Given the description of an element on the screen output the (x, y) to click on. 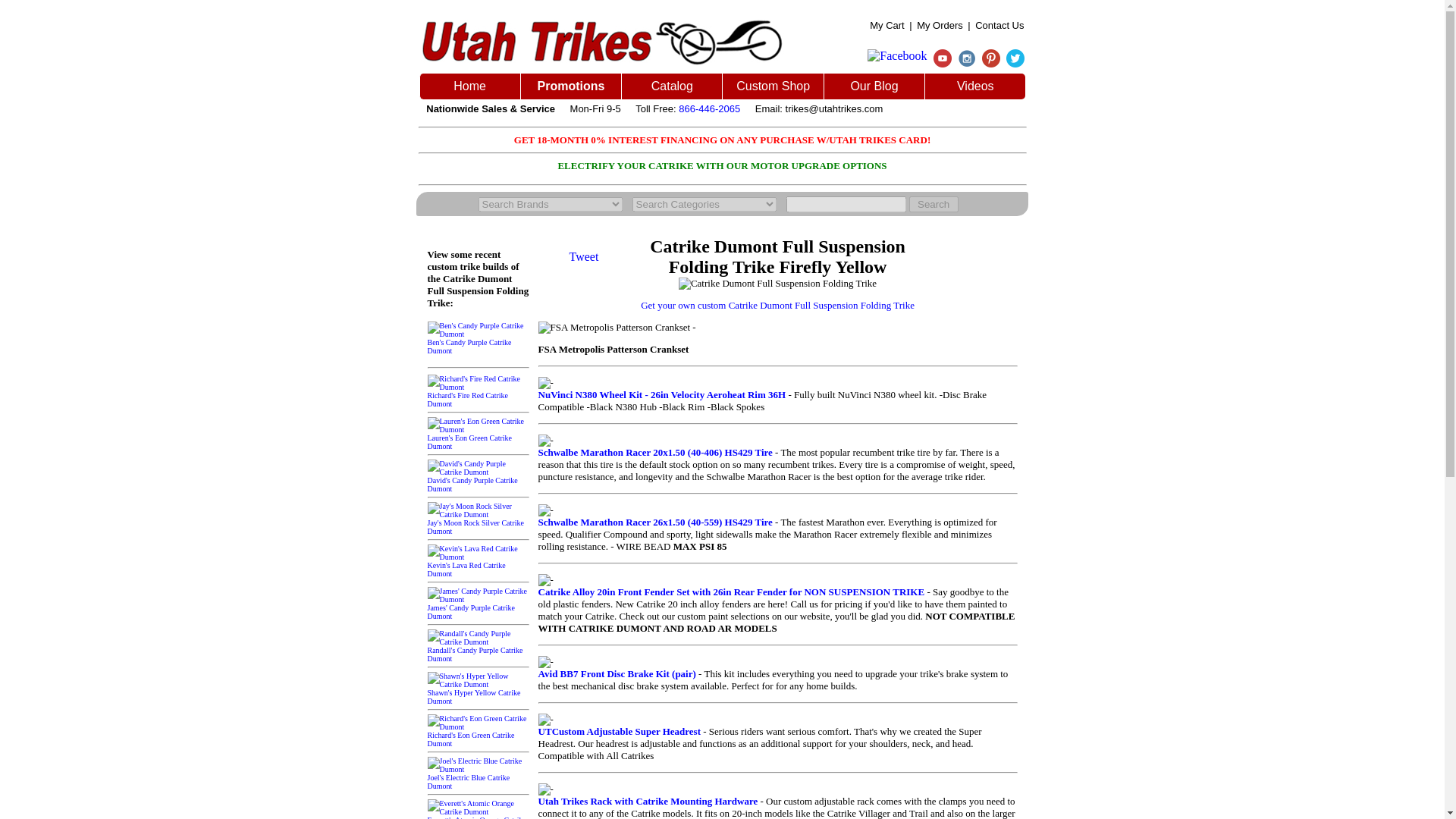
Lauren's Eon Green Catrike Dumont (478, 437)
866-446-2065 (708, 108)
ELECTRIFY YOUR CATRIKE WITH OUR MOTOR UPGRADE OPTIONS (721, 164)
Home (469, 85)
David's Candy Purple Catrike Dumont (478, 480)
Richard's Eon Green Catrike Dumont (478, 734)
Videos (975, 85)
Joel's Electric Blue Catrike Dumont (478, 777)
Search (933, 204)
My Orders (939, 25)
